Given the description of an element on the screen output the (x, y) to click on. 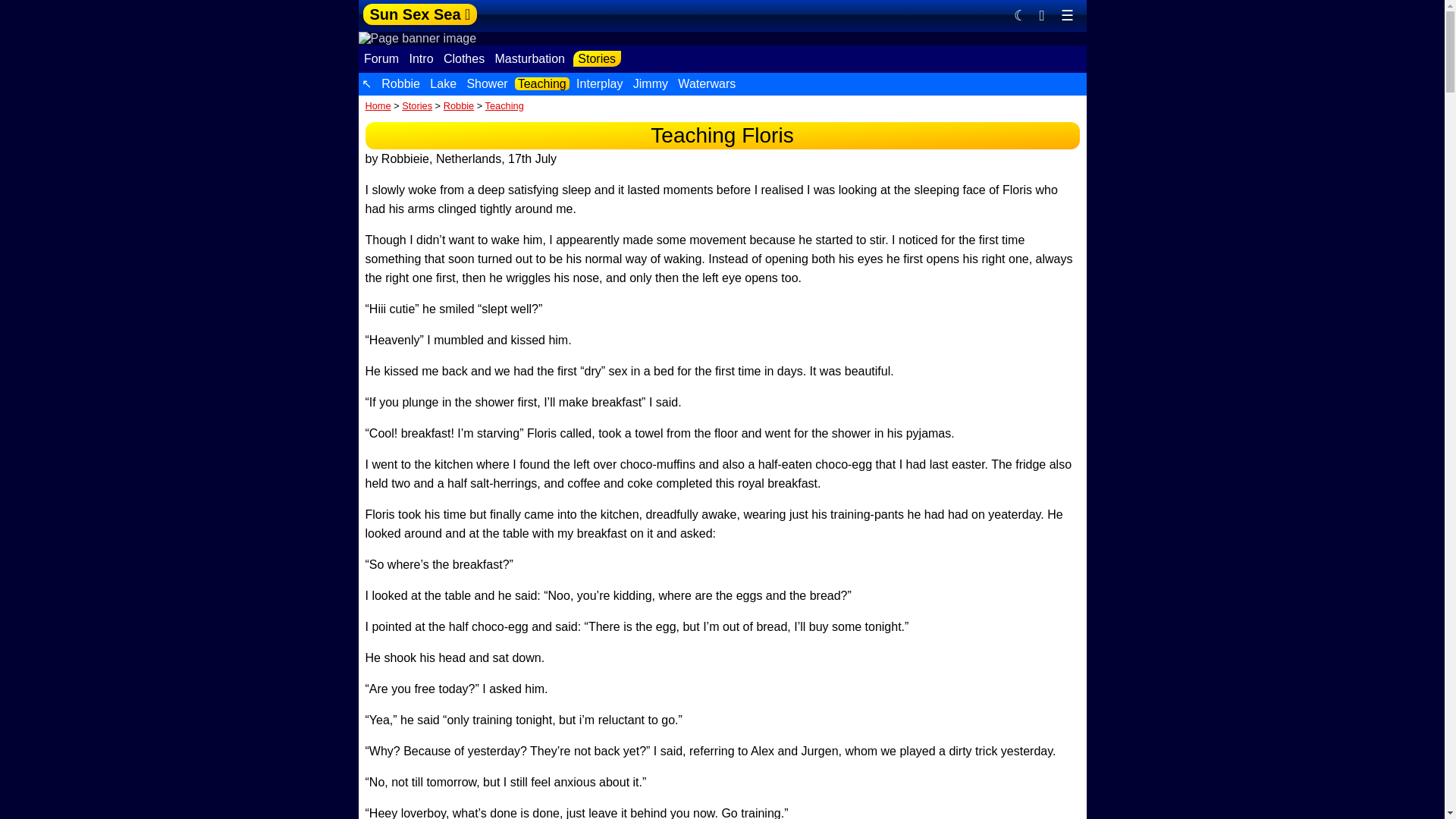
 Forum  (382, 58)
Wet clothes can feel very sensual (463, 58)
 Jimmy  (649, 83)
 Clothes  (463, 58)
 Intro  (421, 58)
 Teaching  (542, 83)
Robbie (459, 105)
Robbie Index (400, 83)
 Shower  (487, 83)
